Given the description of an element on the screen output the (x, y) to click on. 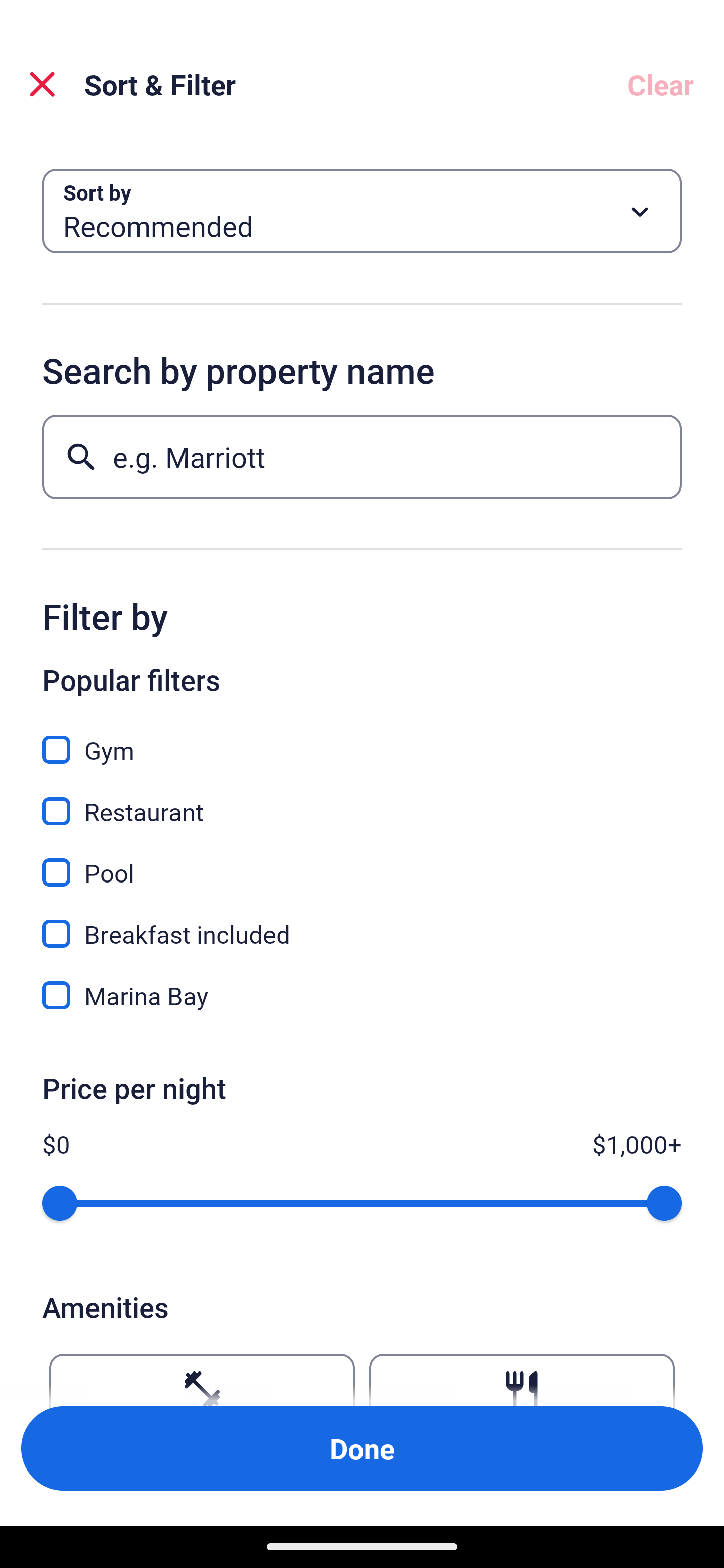
Close Sort and Filter (42, 84)
Clear (660, 84)
Sort by Button Recommended (361, 211)
e.g. Marriott Button (361, 455)
Gym, Gym (361, 738)
Restaurant, Restaurant (361, 800)
Pool, Pool (361, 861)
Breakfast included, Breakfast included (361, 922)
Marina Bay, Marina Bay (361, 995)
Apply and close Sort and Filter Done (361, 1448)
